Given the description of an element on the screen output the (x, y) to click on. 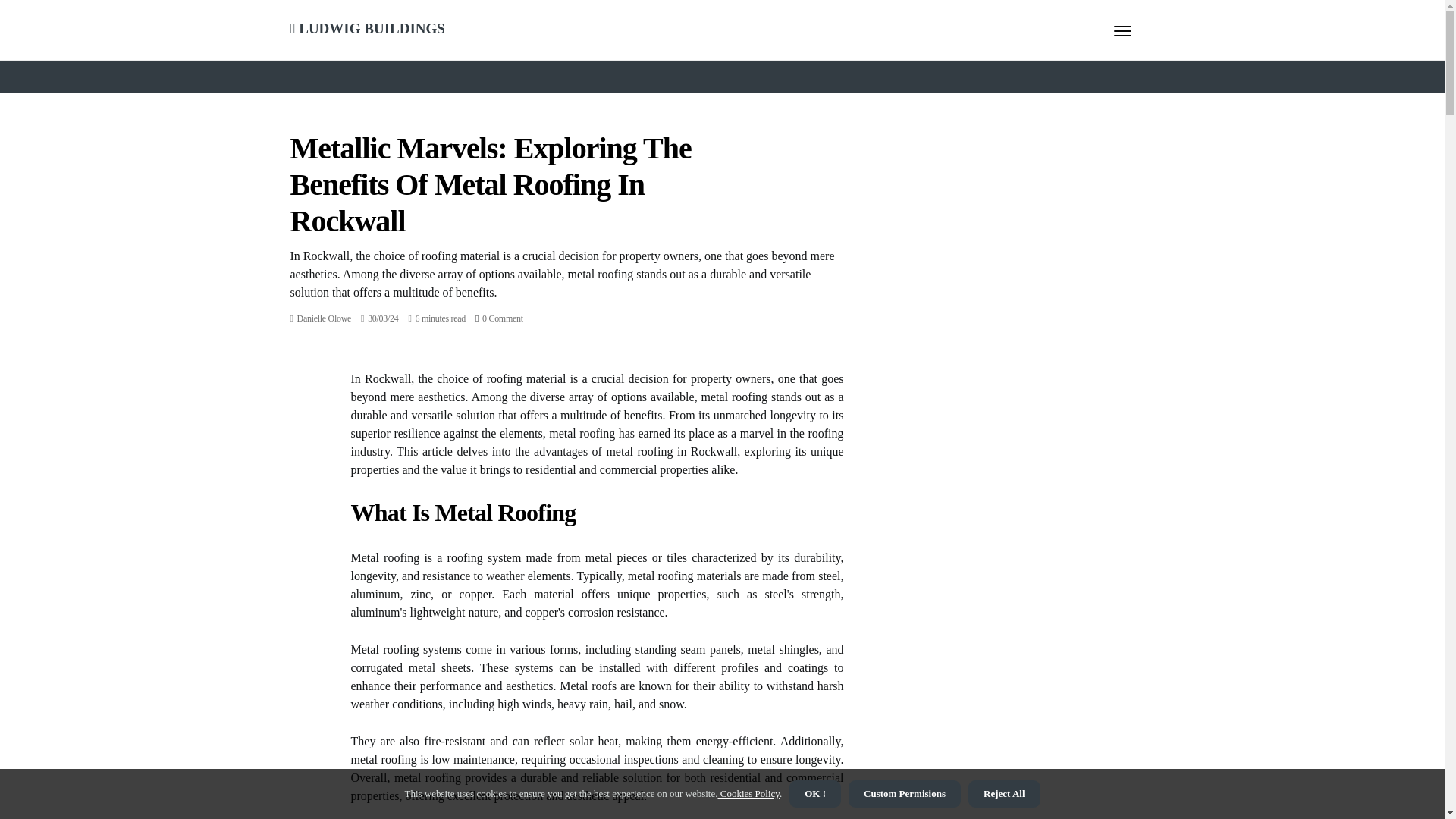
0 Comment (501, 317)
Danielle Olowe (323, 317)
Posts by Danielle Olowe (323, 317)
Ludwig Buildings (366, 26)
